Given the description of an element on the screen output the (x, y) to click on. 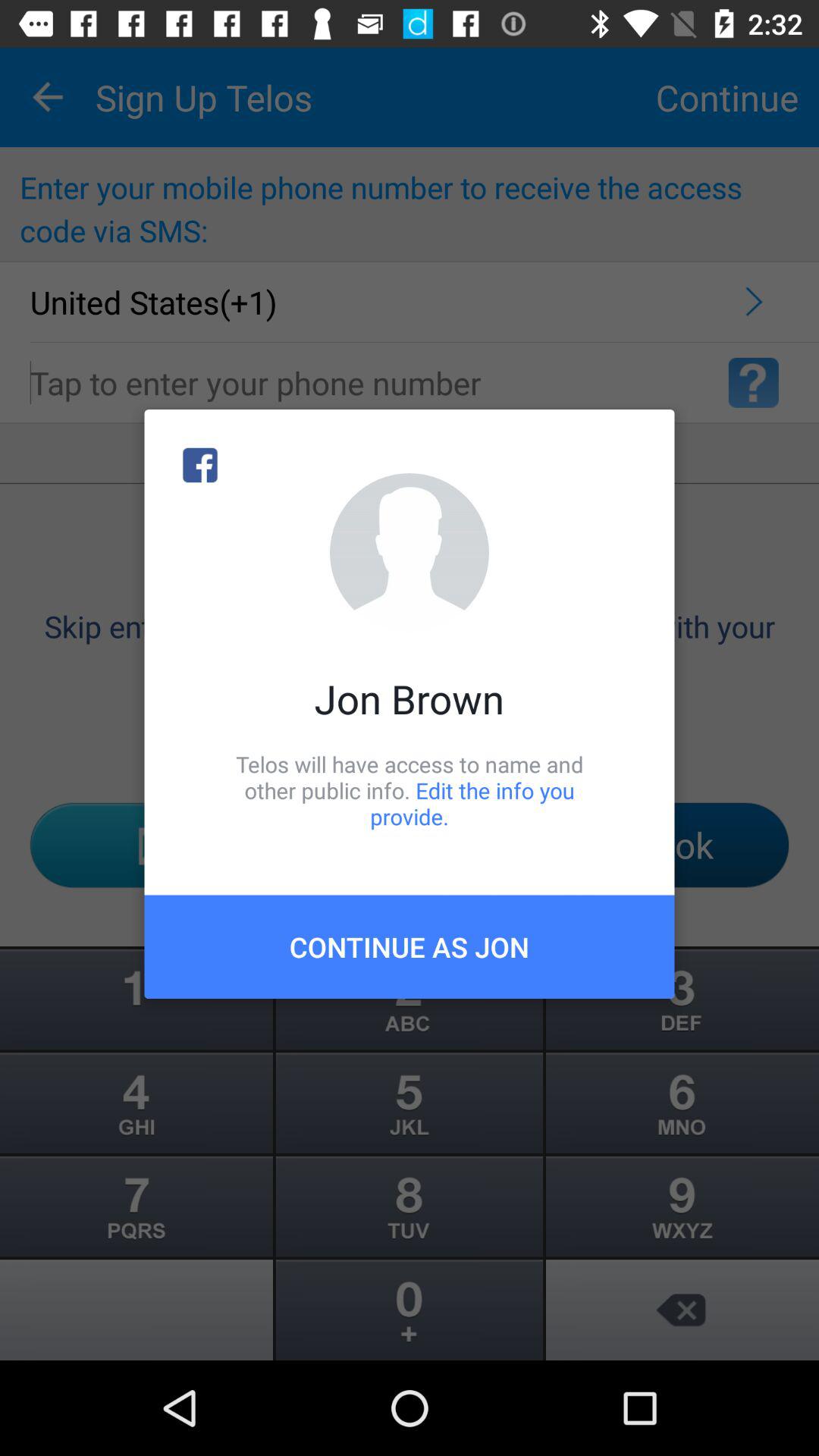
select telos will have (409, 790)
